Given the description of an element on the screen output the (x, y) to click on. 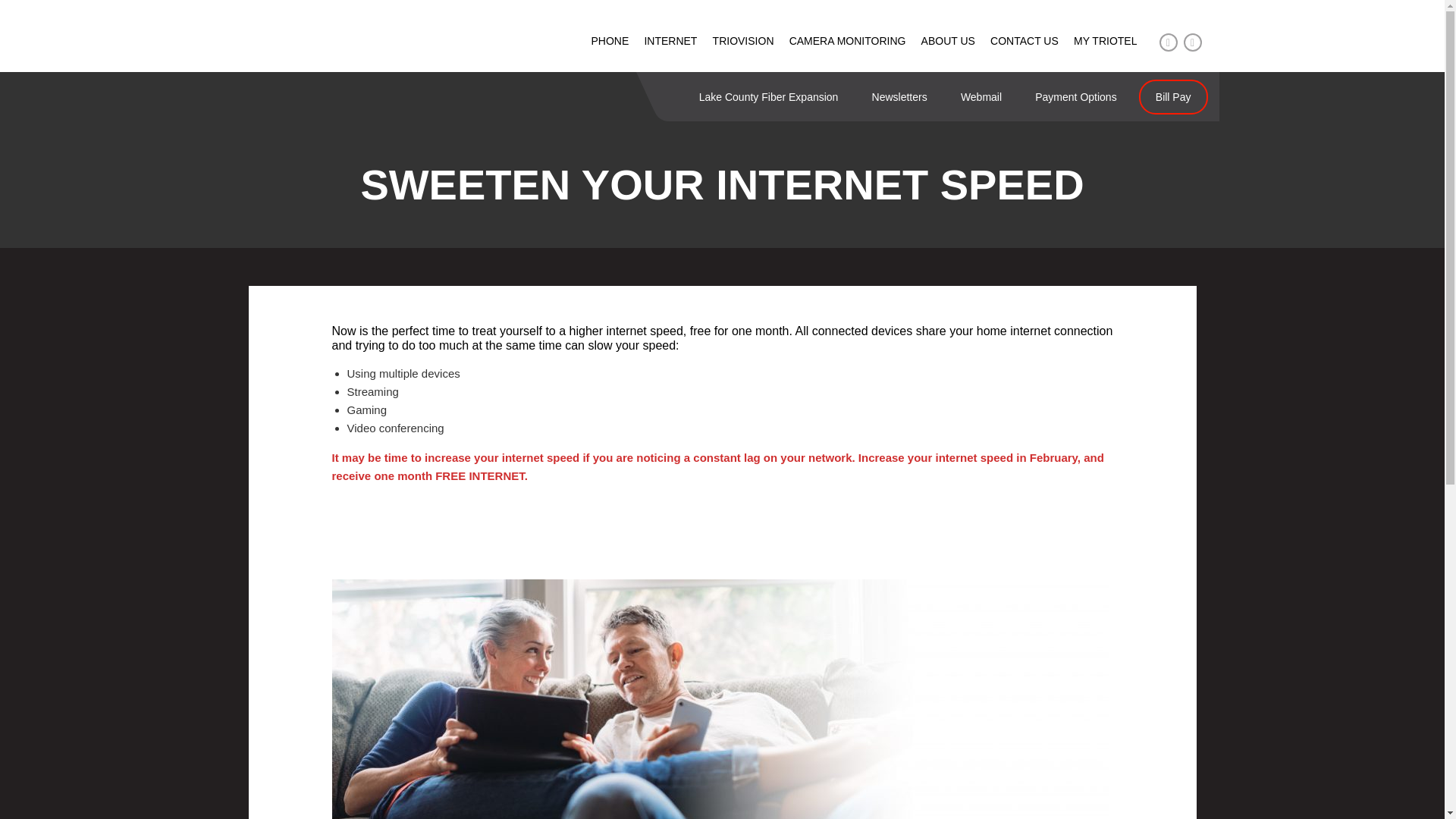
MY TRIOTEL (1105, 41)
Lake County Fiber Expansion (768, 97)
Newsletters (899, 97)
Follow us on YouTube (1191, 42)
Payment Options (1075, 97)
TRIOVISION (743, 41)
INTERNET (670, 41)
Webmail (980, 97)
PHONE (608, 41)
Follow us on Facebook (1167, 42)
